Given the description of an element on the screen output the (x, y) to click on. 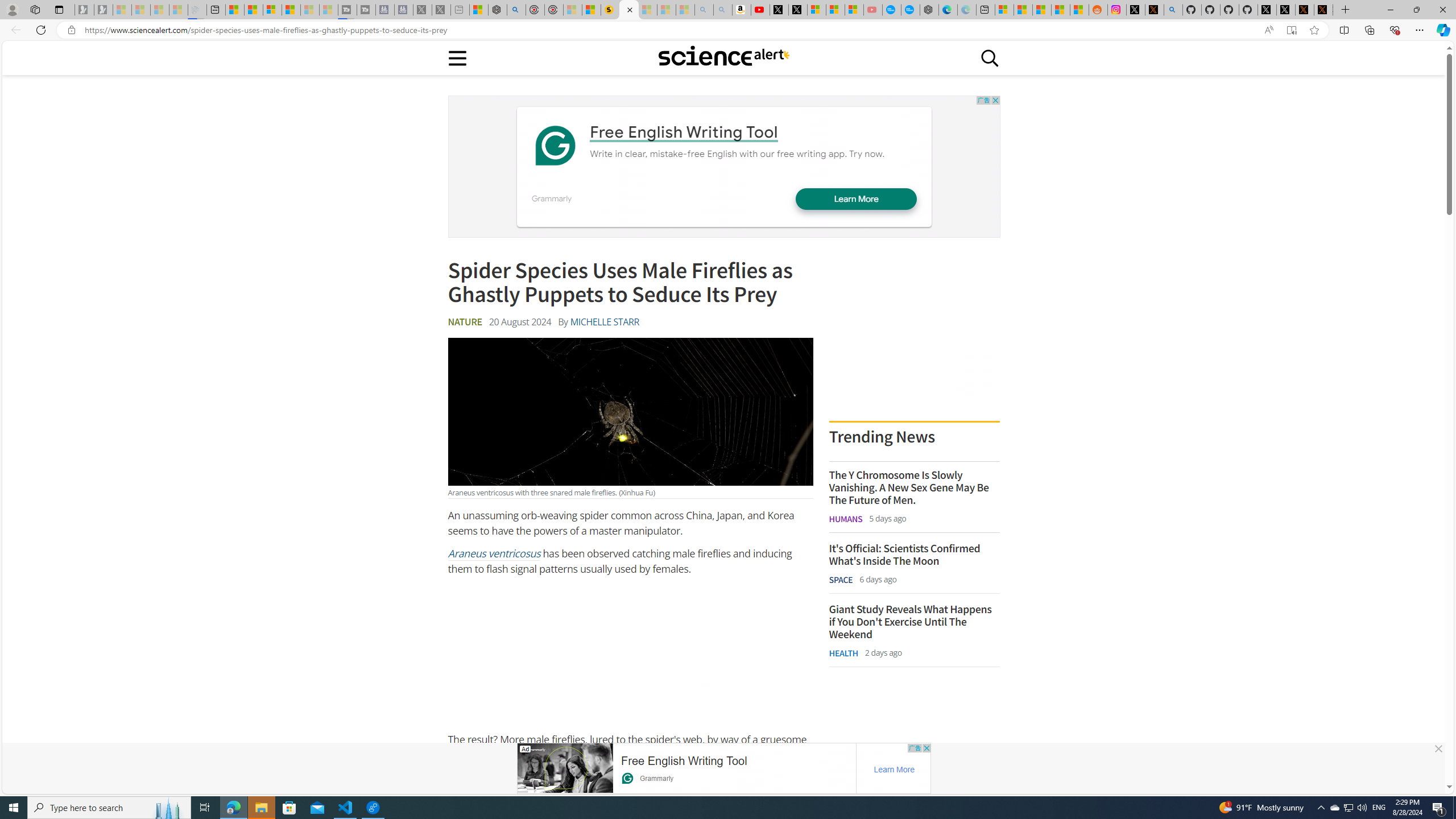
Shanghai, China Weather trends | Microsoft Weather (1079, 9)
Enter Immersive Reader (F9) (1291, 29)
Streaming Coverage | T3 - Sleeping (347, 9)
help.x.com | 524: A timeout occurred (1154, 9)
Class: sciencealert-logo-desktop-svg  (723, 55)
New tab - Sleeping (459, 9)
